Given the description of an element on the screen output the (x, y) to click on. 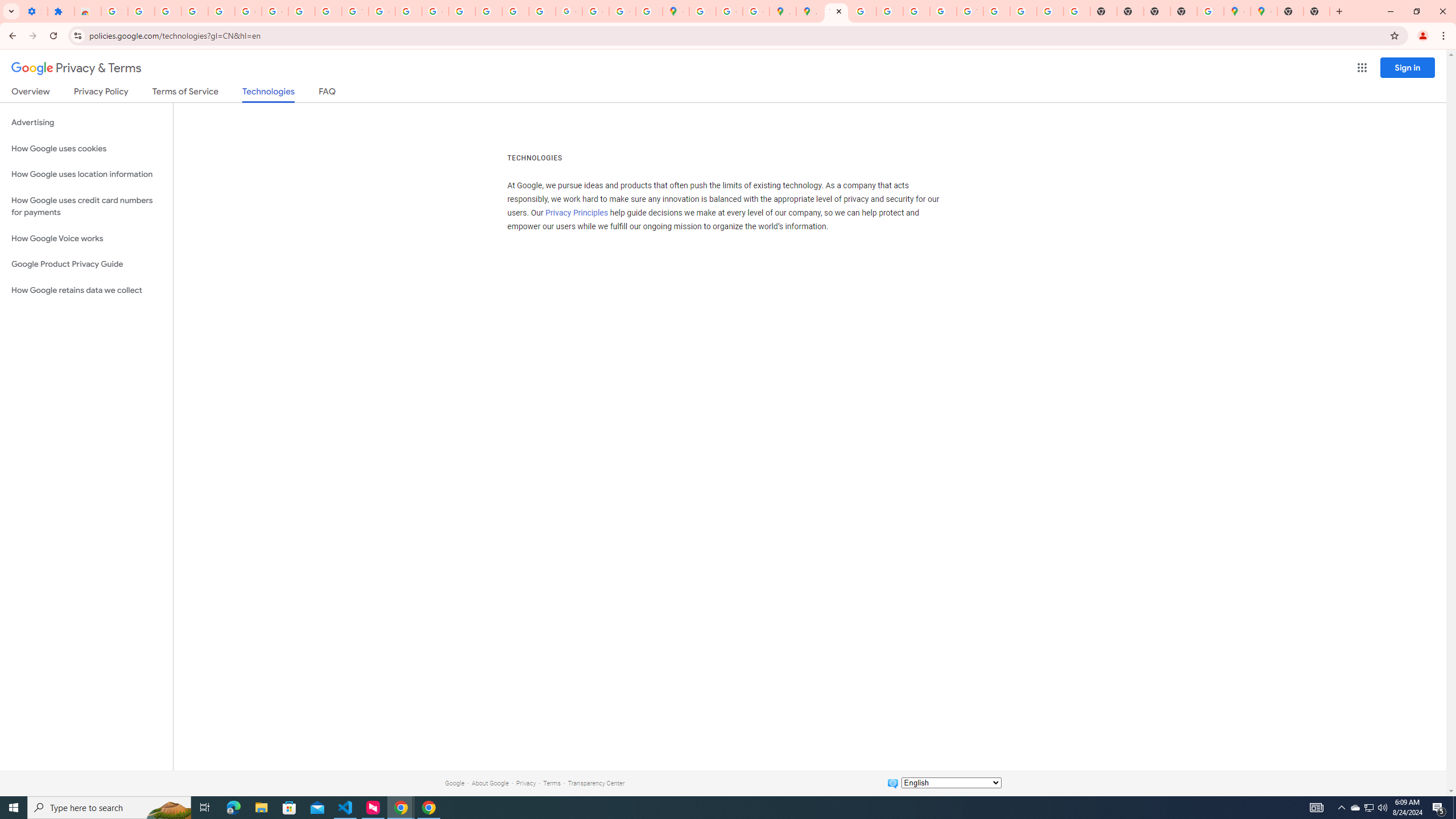
Privacy Policy (100, 93)
Transparency Center (595, 783)
Terms (551, 783)
Privacy (525, 783)
Back (10, 35)
Overview (30, 93)
Create your Google Account (729, 11)
Google apps (1362, 67)
Sign in - Google Accounts (702, 11)
Google (454, 783)
Terms of Service (184, 93)
FAQ (327, 93)
